Given the description of an element on the screen output the (x, y) to click on. 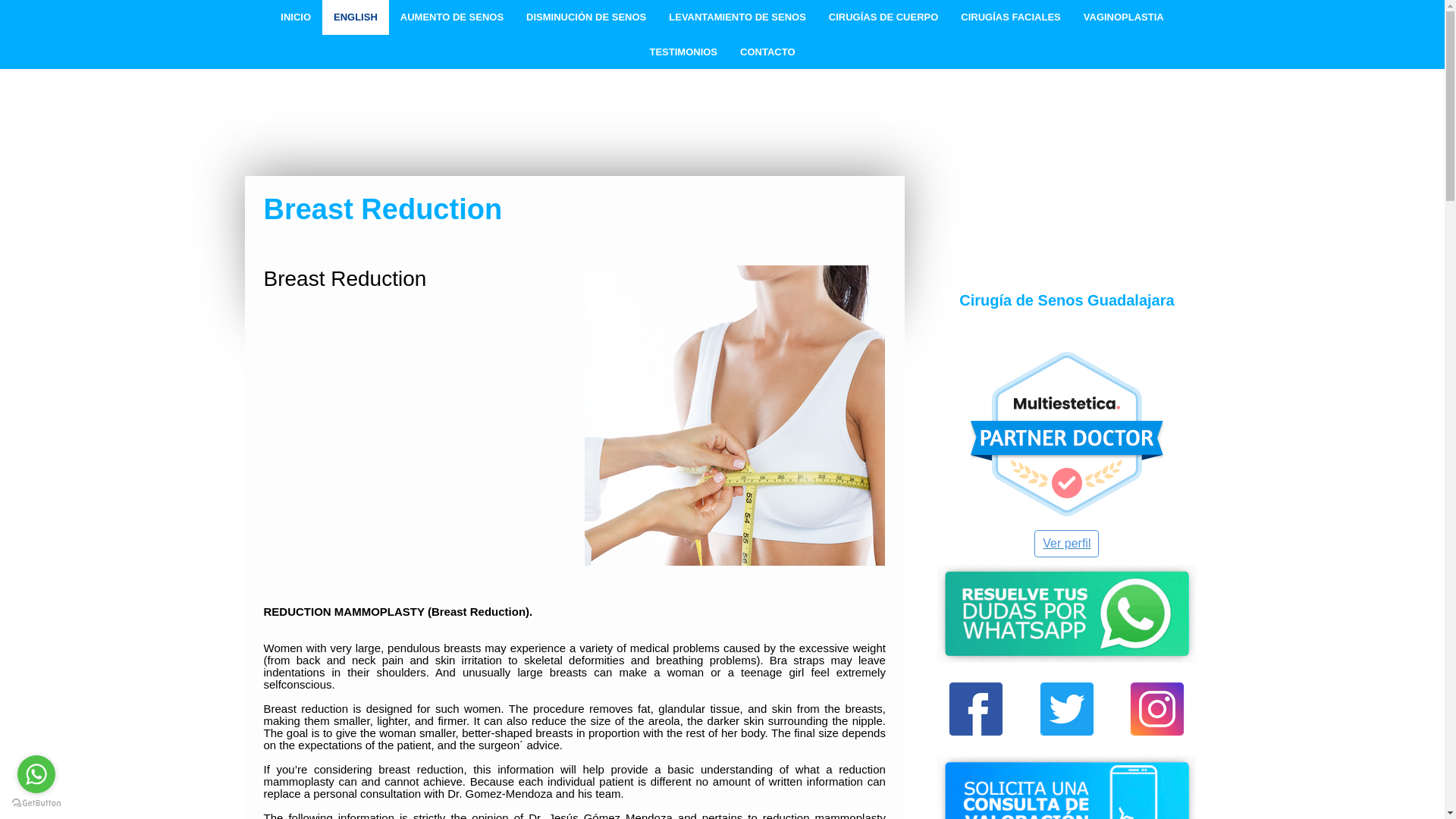
LEVANTAMIENTO DE SENOS (737, 17)
ENGLISH (354, 17)
VAGINOPLASTIA (1122, 17)
AUMENTO DE SENOS (451, 17)
INICIO (295, 17)
CONTACTO (767, 52)
TESTIMONIOS (683, 52)
